Given the description of an element on the screen output the (x, y) to click on. 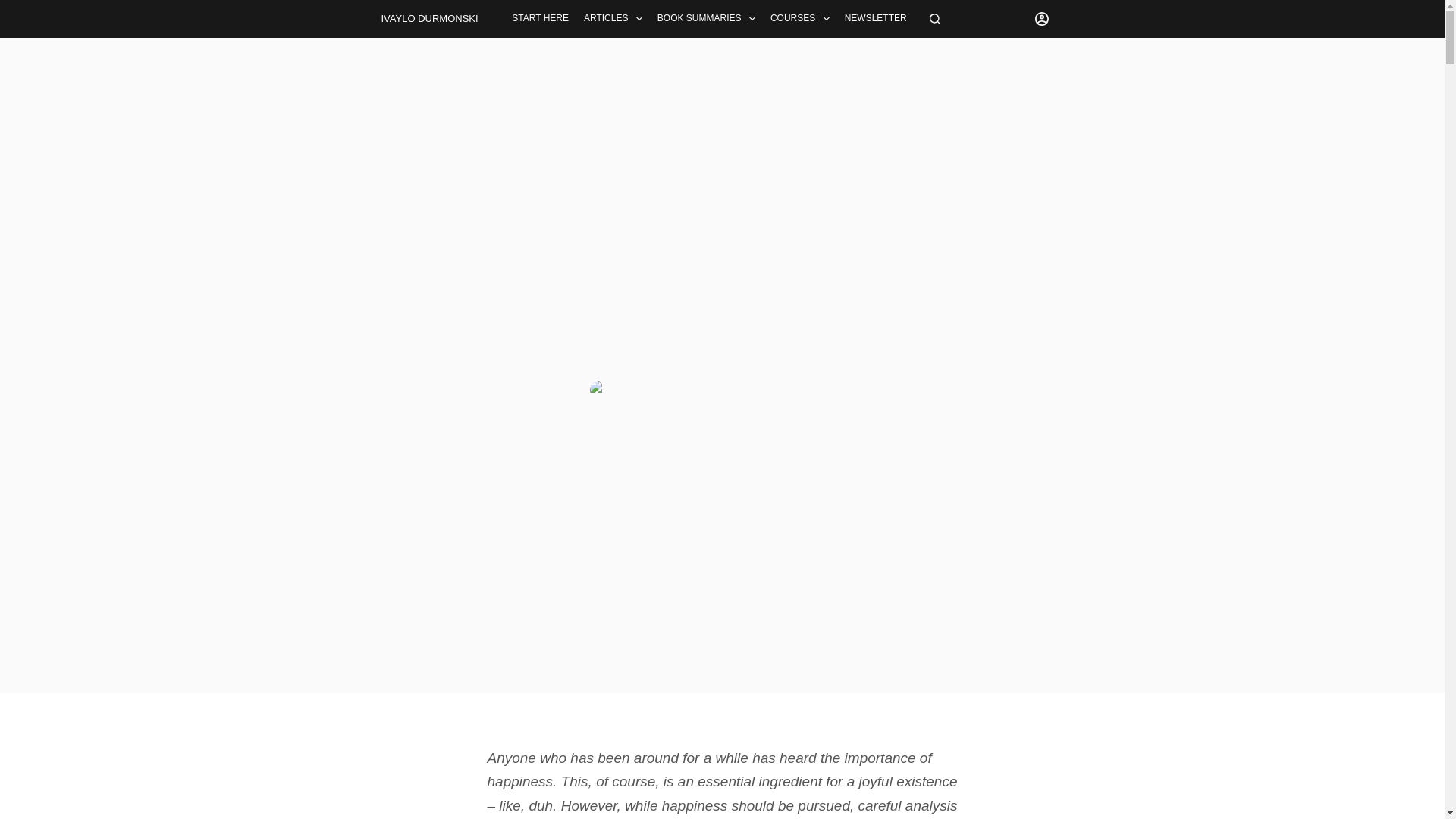
Skip to content (15, 7)
Self-Discipline Exercises for a Happy Life (722, 348)
START HERE (539, 18)
IVAYLO DURMONSKI (428, 18)
Posts by Ivaylo Durmonski (653, 389)
BOOK SUMMARIES (705, 18)
ARTICLES (612, 18)
